Given the description of an element on the screen output the (x, y) to click on. 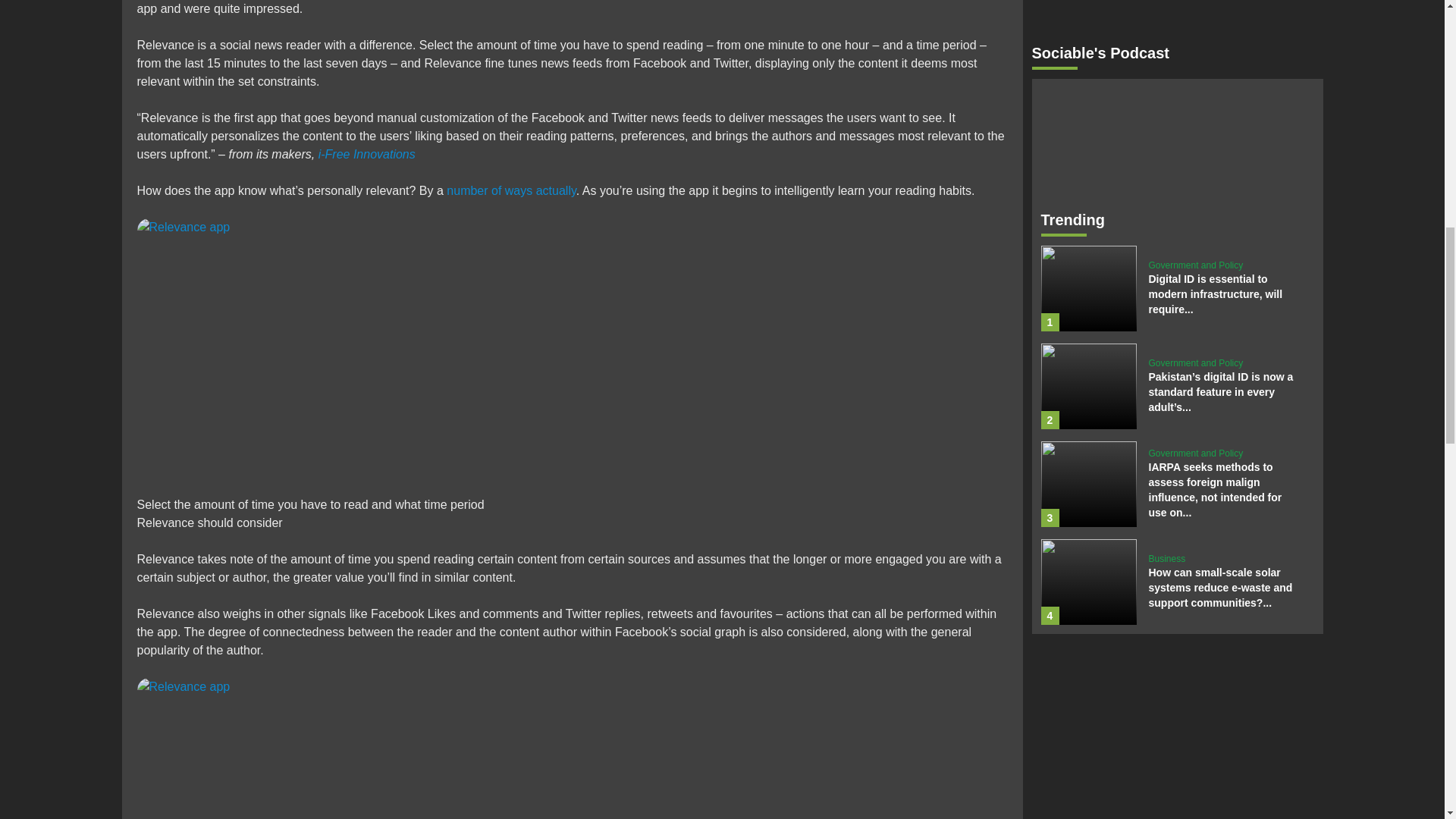
i-Free Innovations (366, 154)
Relevance app (321, 357)
Relevance app (321, 748)
number of ways actually (510, 190)
